Given the description of an element on the screen output the (x, y) to click on. 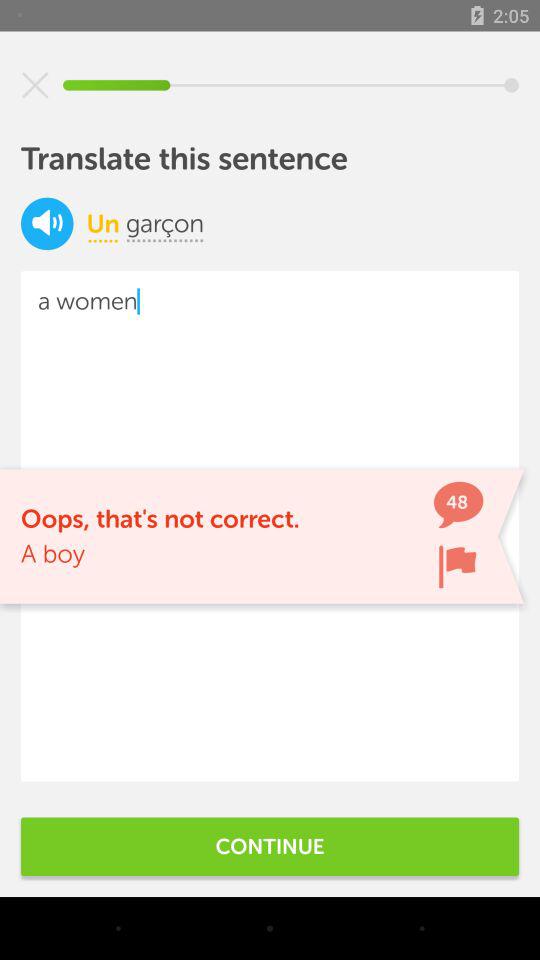
x (35, 85)
